Given the description of an element on the screen output the (x, y) to click on. 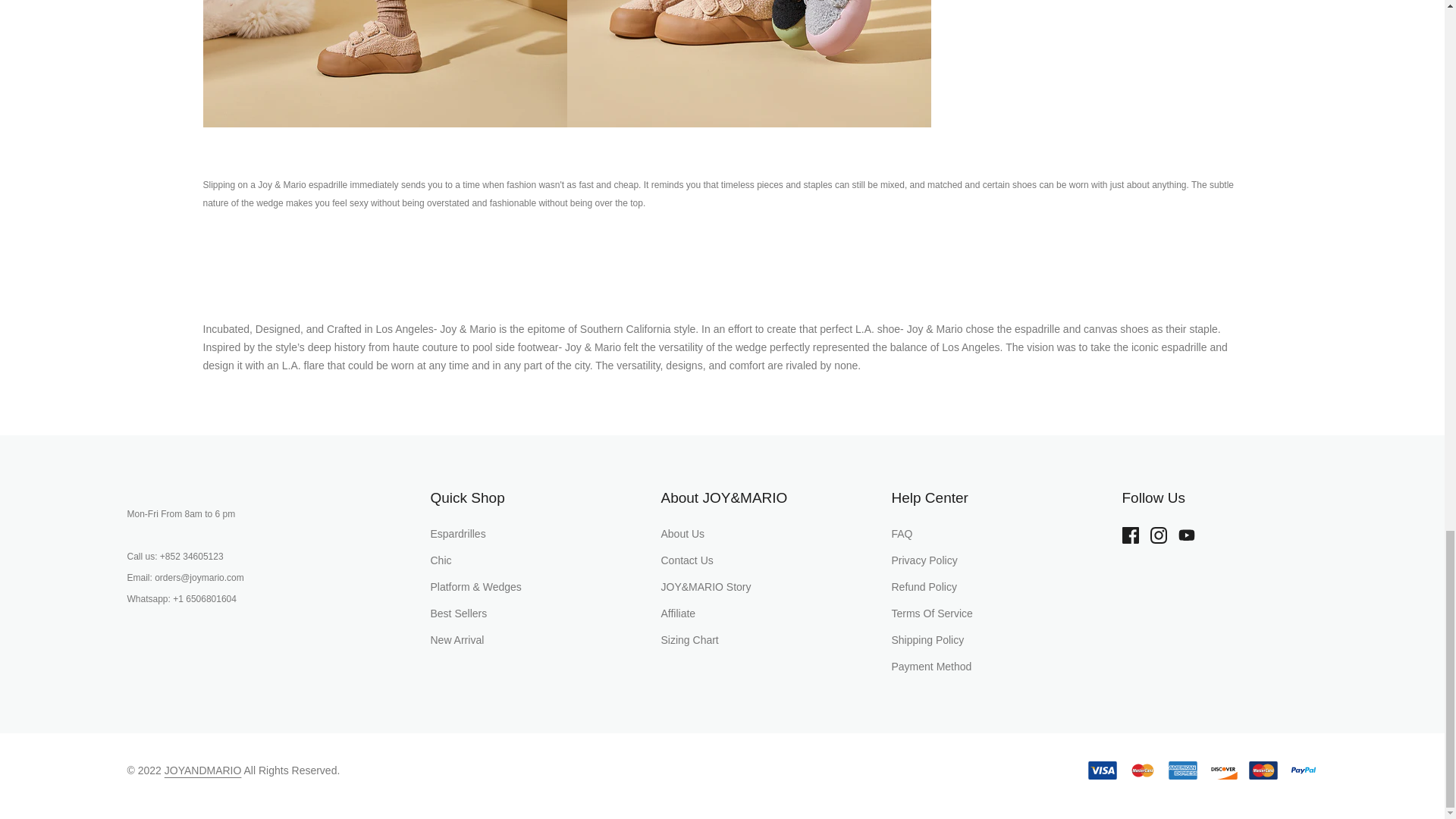
Instagram (1163, 535)
Facebook (1136, 535)
YouTube (1192, 535)
